Given the description of an element on the screen output the (x, y) to click on. 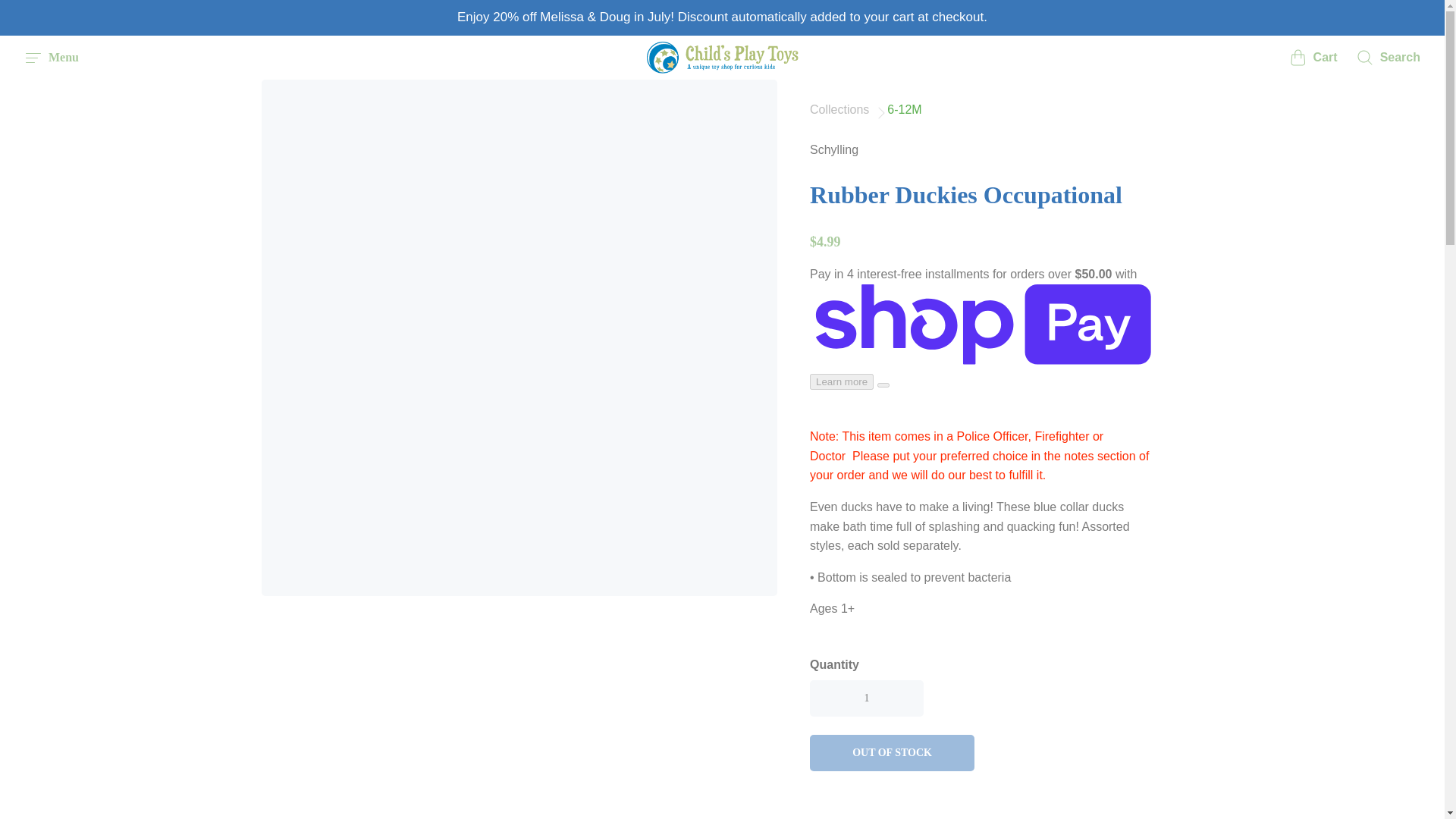
Menu (51, 57)
1 (865, 698)
Search (1388, 57)
Cart (1313, 57)
